Given the description of an element on the screen output the (x, y) to click on. 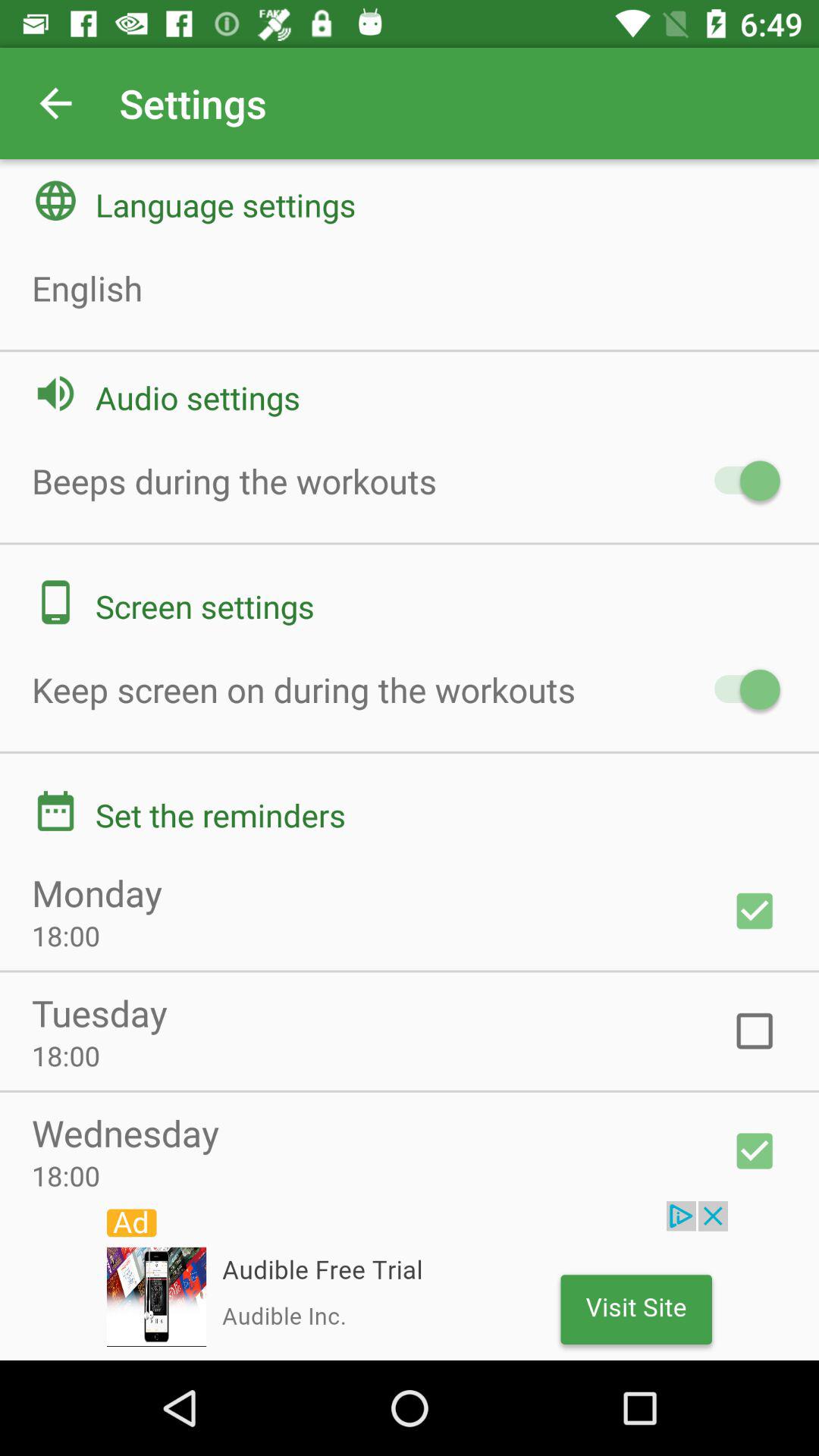
toggle on option (754, 910)
